Given the description of an element on the screen output the (x, y) to click on. 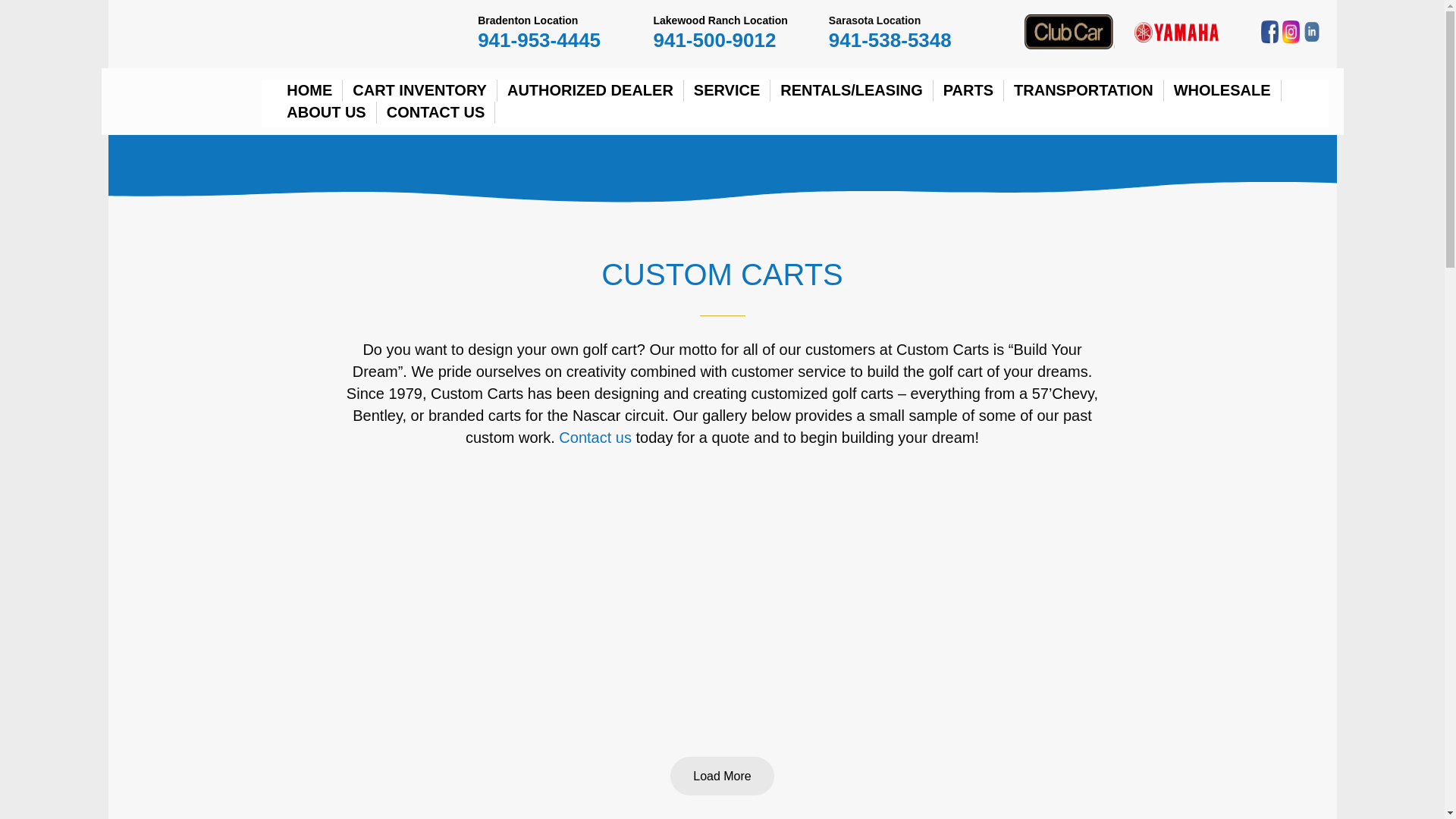
941-953-4445 (538, 39)
HOME (309, 90)
PARTS (968, 90)
941-500-9012 (714, 39)
941-538-5348 (890, 39)
Custom Carts Logo final kopie (194, 65)
SERVICE (727, 90)
TRANSPORTATION (1083, 90)
CART INVENTORY (419, 90)
AUTHORIZED DEALER (590, 90)
